Given the description of an element on the screen output the (x, y) to click on. 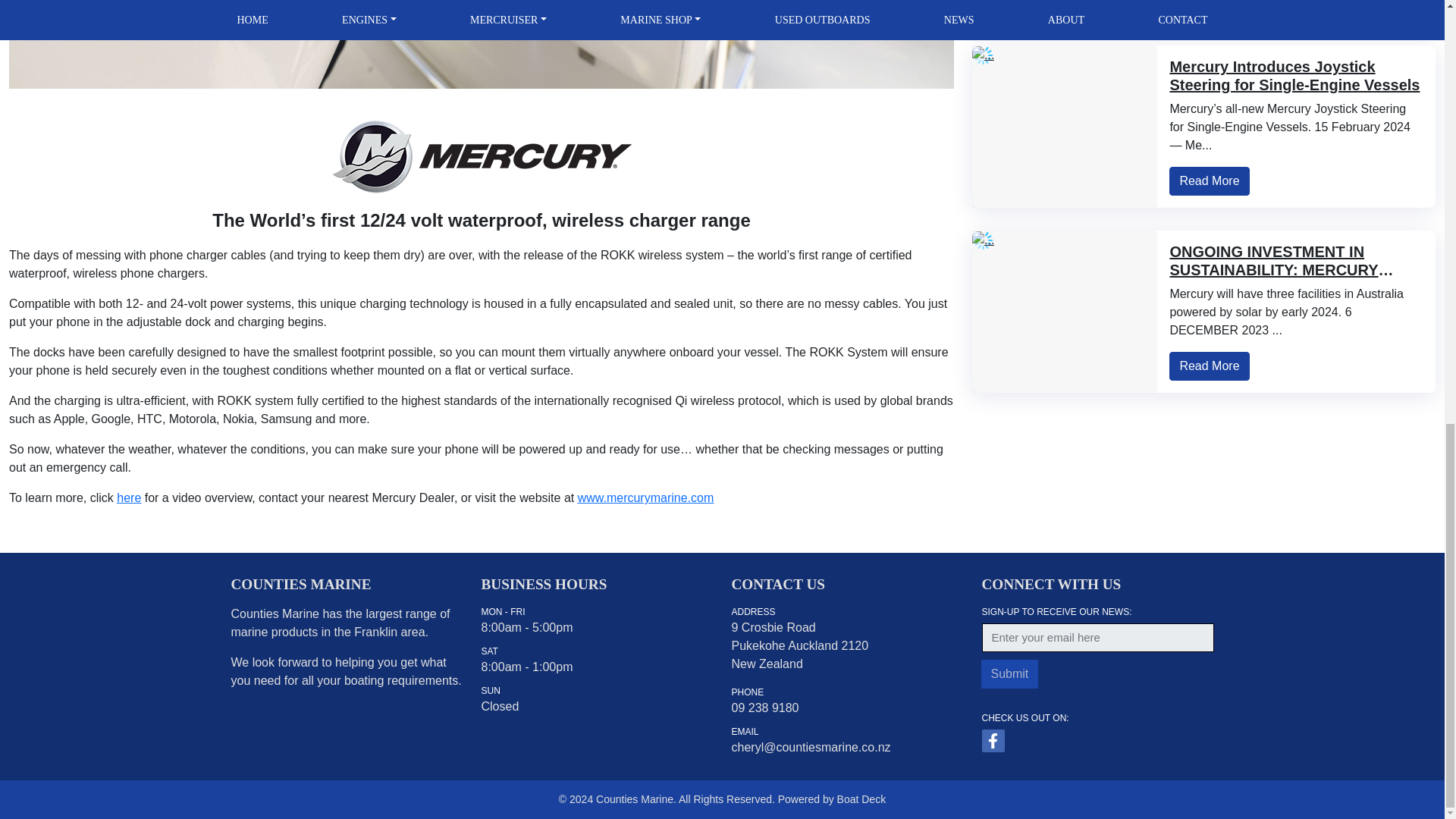
here (128, 497)
Read More (1209, 5)
www.mercurymarine.com (646, 497)
